Given the description of an element on the screen output the (x, y) to click on. 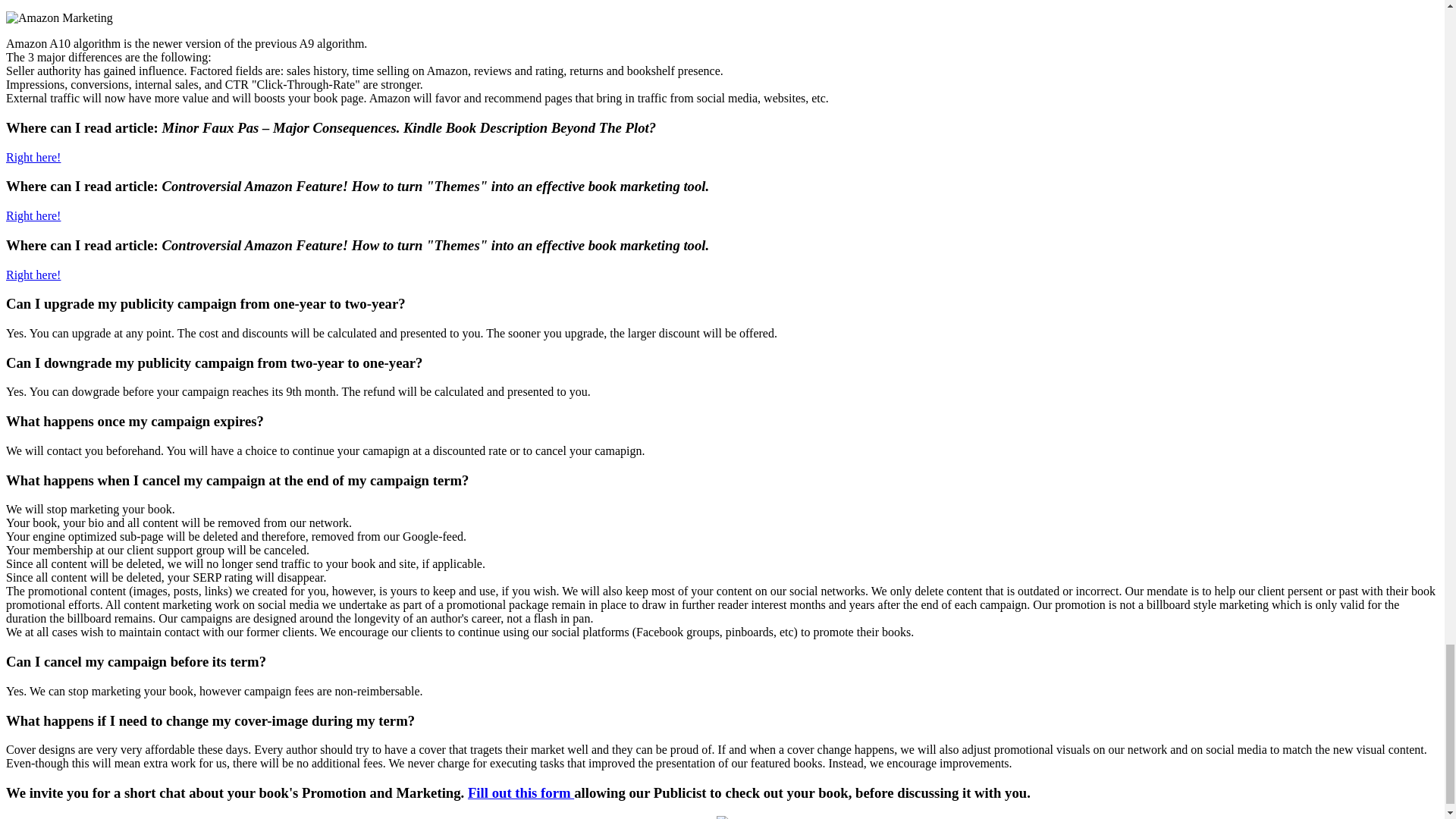
Fill out this form (520, 792)
Right here! (33, 156)
Right here! (33, 215)
Right here! (33, 274)
